Given the description of an element on the screen output the (x, y) to click on. 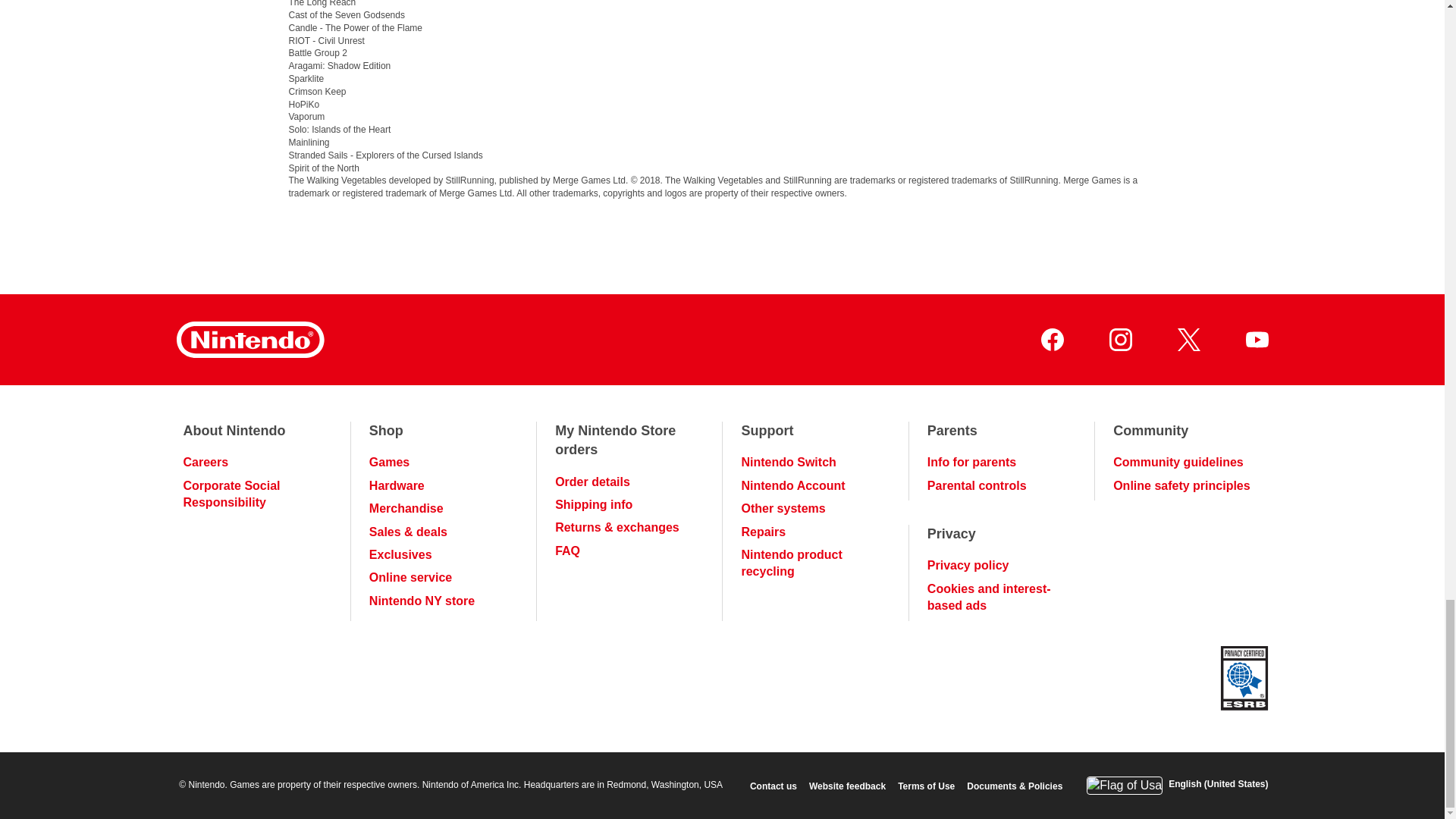
Nintendo on Instagram (1119, 339)
Nintendo Homepage (249, 339)
Nintendo on Facebook (1051, 339)
